Given the description of an element on the screen output the (x, y) to click on. 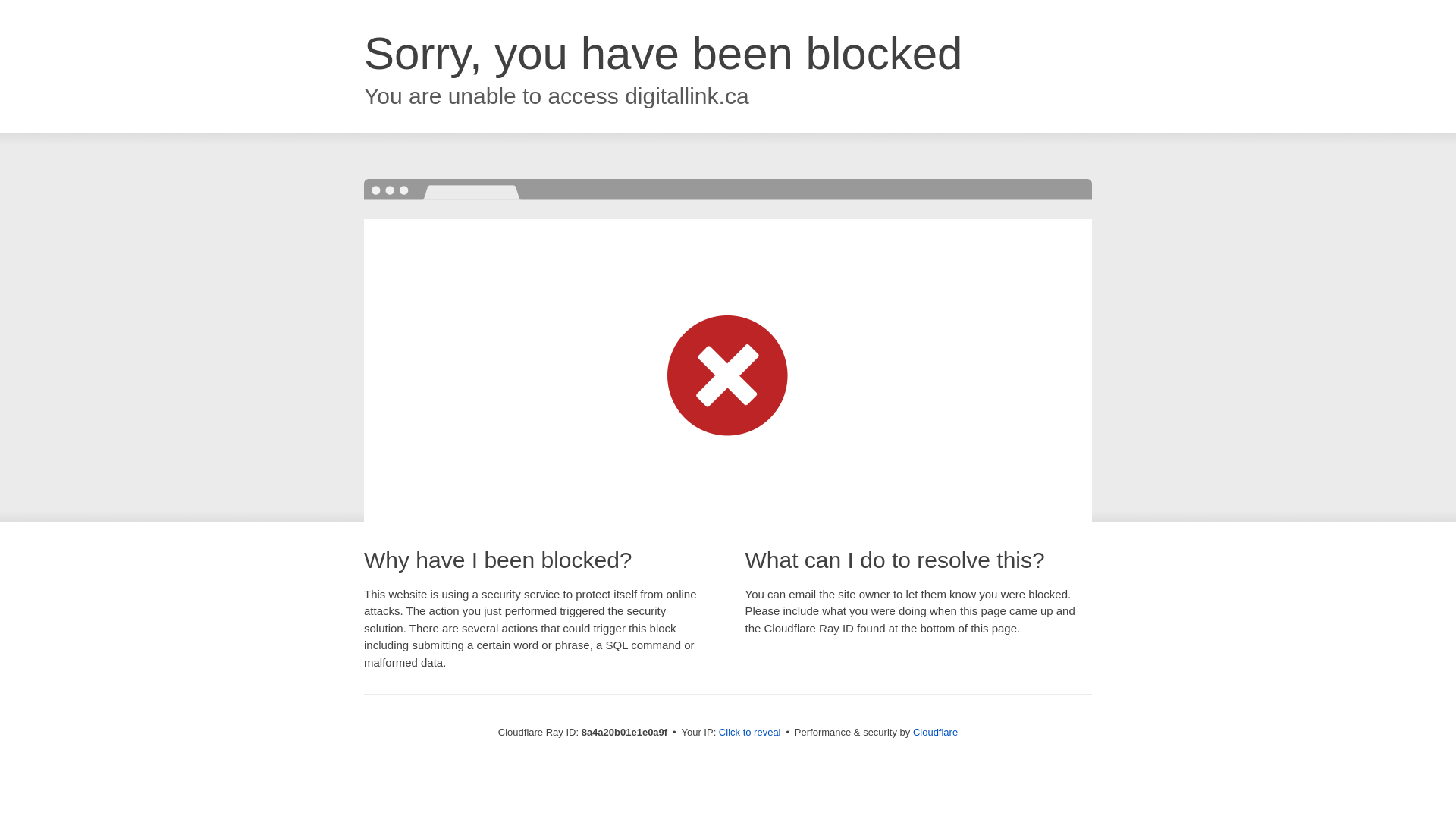
Click to reveal (749, 732)
Cloudflare (935, 731)
